Given the description of an element on the screen output the (x, y) to click on. 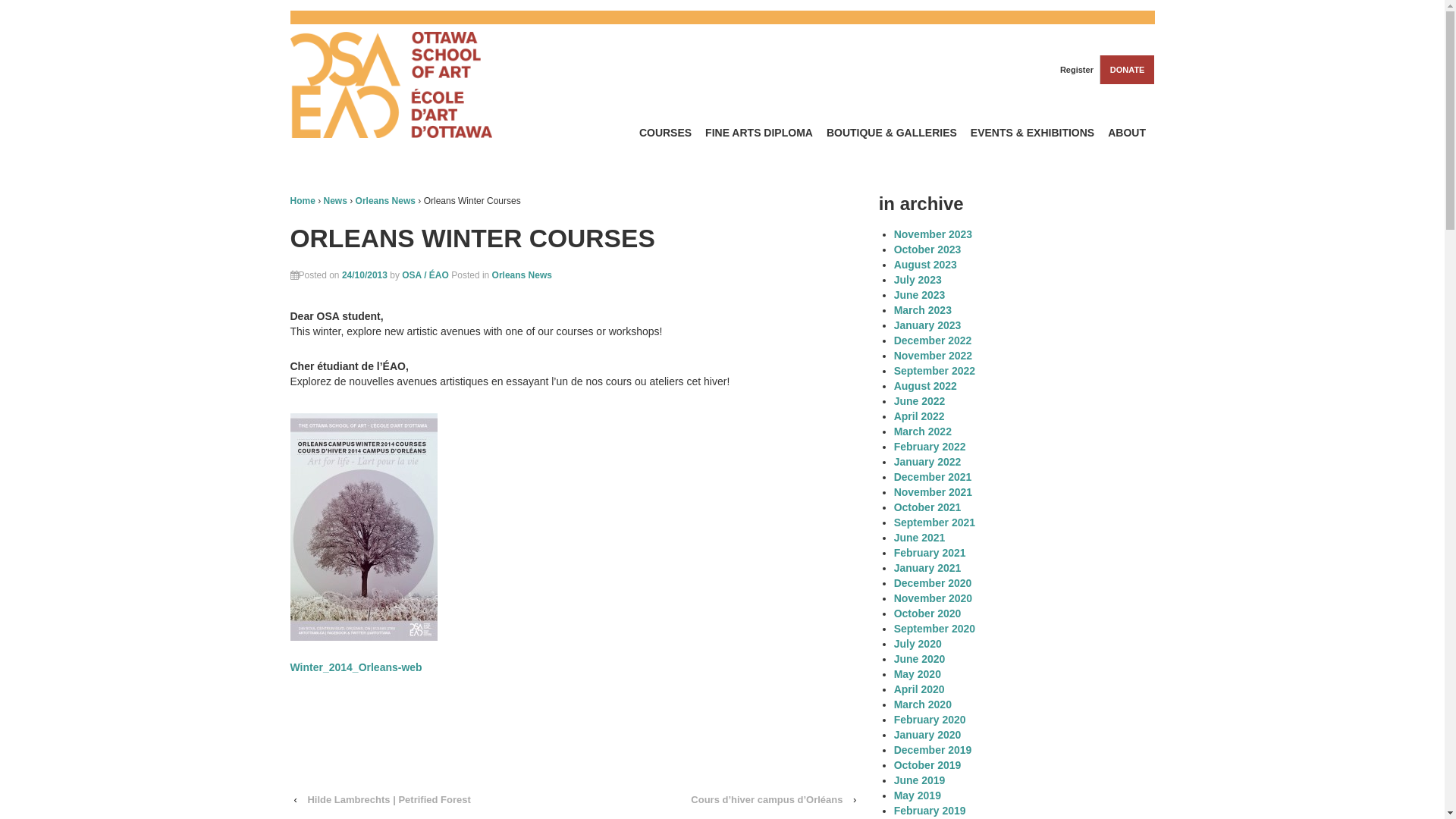
June 2021 Element type: text (919, 537)
BOUTIQUE & GALLERIES Element type: text (891, 132)
July 2020 Element type: text (917, 643)
September 2021 Element type: text (934, 522)
November 2023 Element type: text (933, 234)
FINE ARTS DIPLOMA Element type: text (758, 132)
June 2019 Element type: text (919, 780)
November 2022 Element type: text (933, 355)
December 2022 Element type: text (933, 340)
Register Element type: text (1075, 69)
EVENTS & EXHIBITIONS Element type: text (1031, 132)
April 2022 Element type: text (919, 416)
Hilde Lambrechts | Petrified Forest Element type: text (388, 799)
March 2020 Element type: text (922, 704)
Orleans News Element type: text (385, 200)
December 2020 Element type: text (933, 583)
November 2021 Element type: text (933, 492)
June 2020 Element type: text (919, 658)
July 2023 Element type: text (917, 279)
September 2022 Element type: text (934, 370)
October 2021 Element type: text (927, 507)
March 2023 Element type: text (922, 310)
March 2022 Element type: text (922, 431)
Orleans News Element type: text (522, 274)
Home Element type: text (301, 200)
DONATE Element type: text (1126, 69)
September 2020 Element type: text (934, 628)
February 2019 Element type: text (930, 810)
January 2021 Element type: text (927, 567)
October 2019 Element type: text (927, 765)
January 2020 Element type: text (927, 734)
May 2020 Element type: text (917, 674)
24/10/2013 Element type: text (364, 274)
Winter_2014_Orleans-web Element type: text (355, 667)
August 2023 Element type: text (925, 264)
May 2019 Element type: text (917, 795)
ABOUT Element type: text (1126, 132)
October 2023 Element type: text (927, 249)
October 2020 Element type: text (927, 613)
August 2022 Element type: text (925, 385)
June 2022 Element type: text (919, 401)
February 2022 Element type: text (930, 446)
January 2022 Element type: text (927, 461)
February 2020 Element type: text (930, 719)
COURSES Element type: text (664, 132)
April 2020 Element type: text (919, 689)
February 2021 Element type: text (930, 552)
News Element type: text (335, 200)
November 2020 Element type: text (933, 598)
June 2023 Element type: text (919, 294)
December 2021 Element type: text (933, 476)
December 2019 Element type: text (933, 749)
January 2023 Element type: text (927, 325)
